Given the description of an element on the screen output the (x, y) to click on. 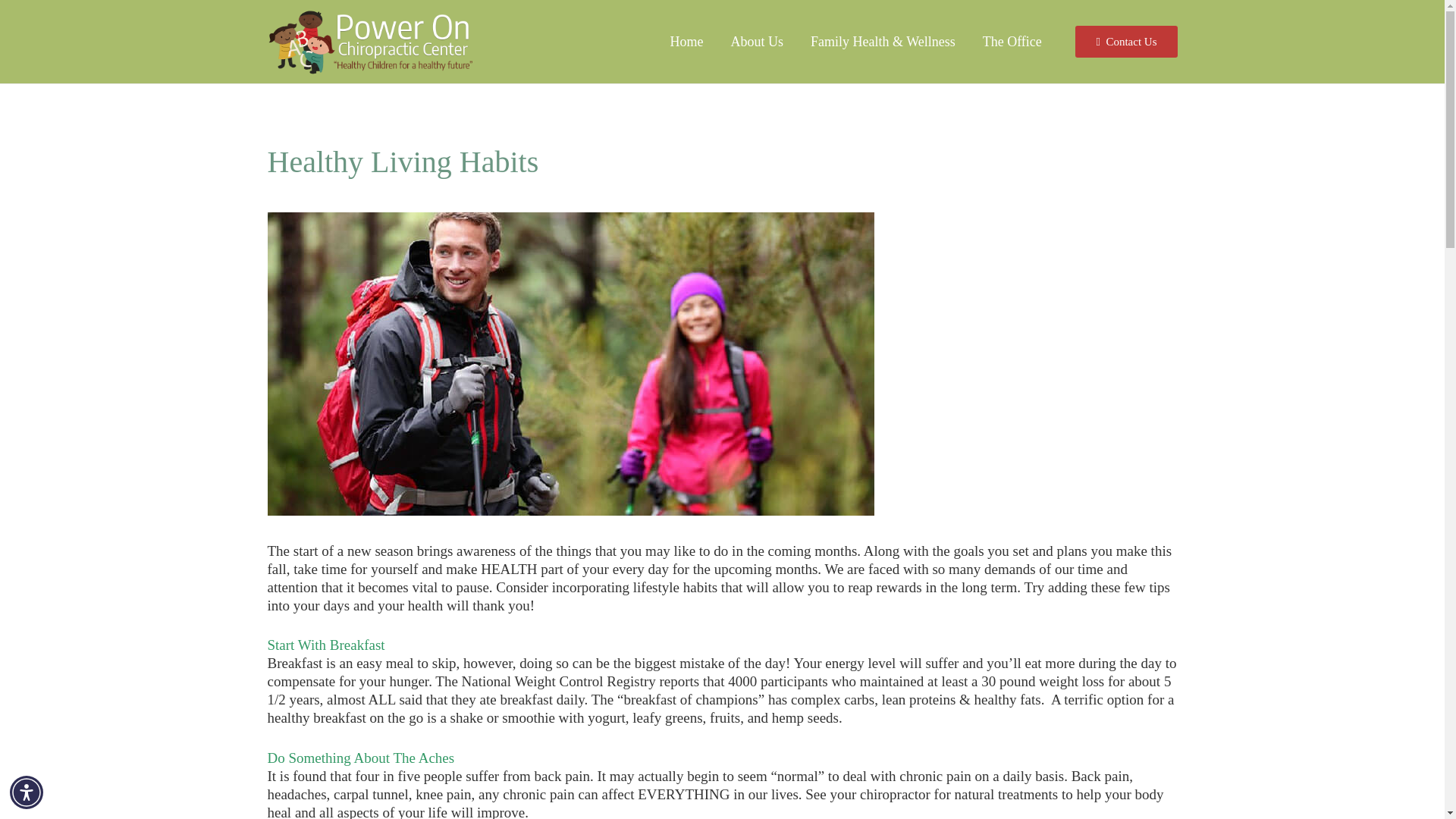
Accessibility Menu (26, 792)
The Office (1012, 41)
About Us (757, 41)
Contact Us (1125, 41)
